Given the description of an element on the screen output the (x, y) to click on. 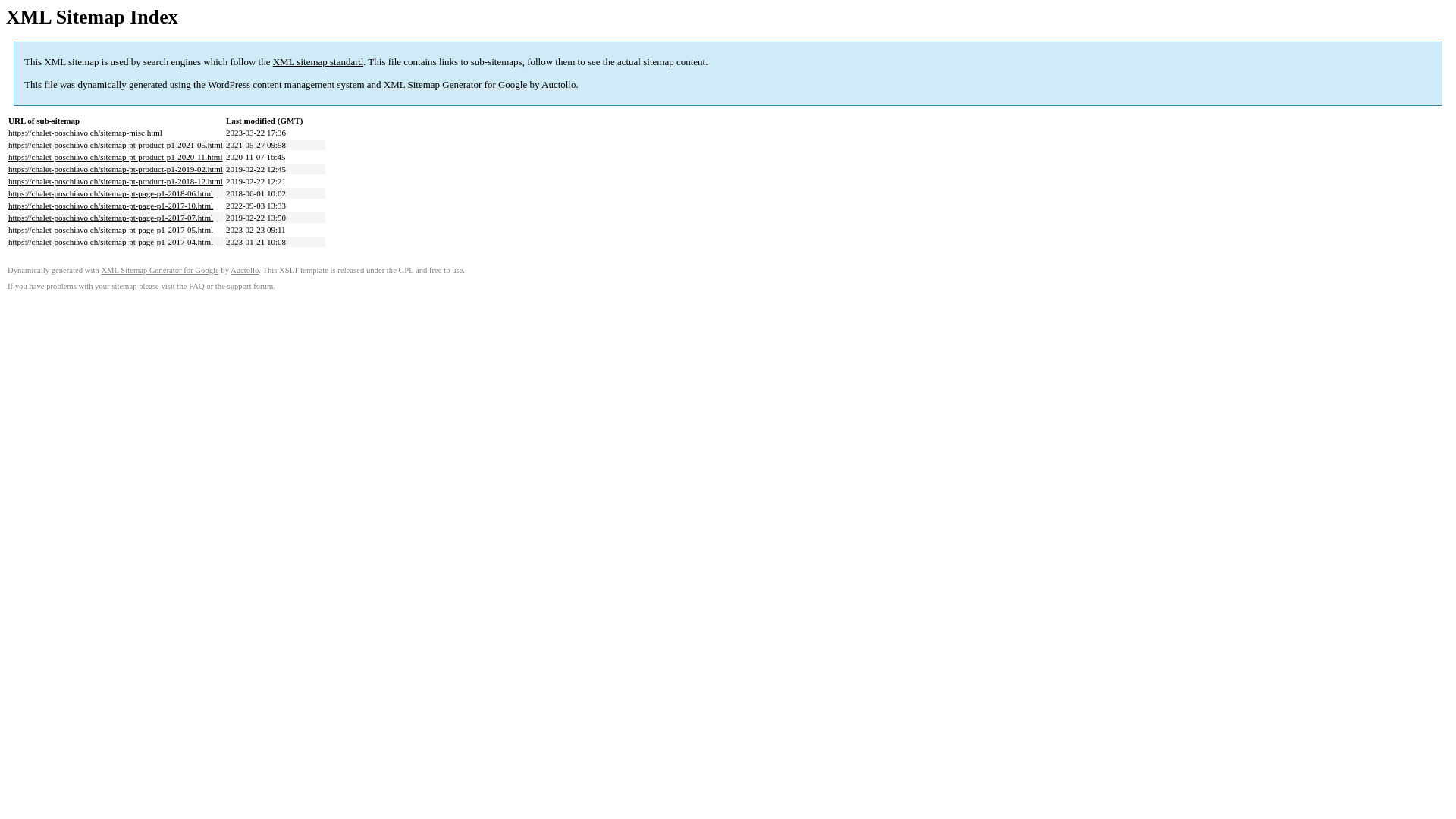
https://chalet-poschiavo.ch/sitemap-pt-page-p1-2017-05.html Element type: text (110, 229)
XML Sitemap Generator for Google Element type: text (455, 84)
Auctollo Element type: text (244, 270)
https://chalet-poschiavo.ch/sitemap-pt-page-p1-2017-10.html Element type: text (110, 205)
XML Sitemap Generator for Google Element type: text (159, 270)
Auctollo Element type: text (558, 84)
https://chalet-poschiavo.ch/sitemap-pt-page-p1-2017-04.html Element type: text (110, 241)
XML sitemap standard Element type: text (318, 61)
support forum Element type: text (250, 286)
https://chalet-poschiavo.ch/sitemap-pt-page-p1-2017-07.html Element type: text (110, 217)
WordPress Element type: text (228, 84)
https://chalet-poschiavo.ch/sitemap-misc.html Element type: text (85, 132)
https://chalet-poschiavo.ch/sitemap-pt-page-p1-2018-06.html Element type: text (110, 192)
FAQ Element type: text (196, 286)
